Given the description of an element on the screen output the (x, y) to click on. 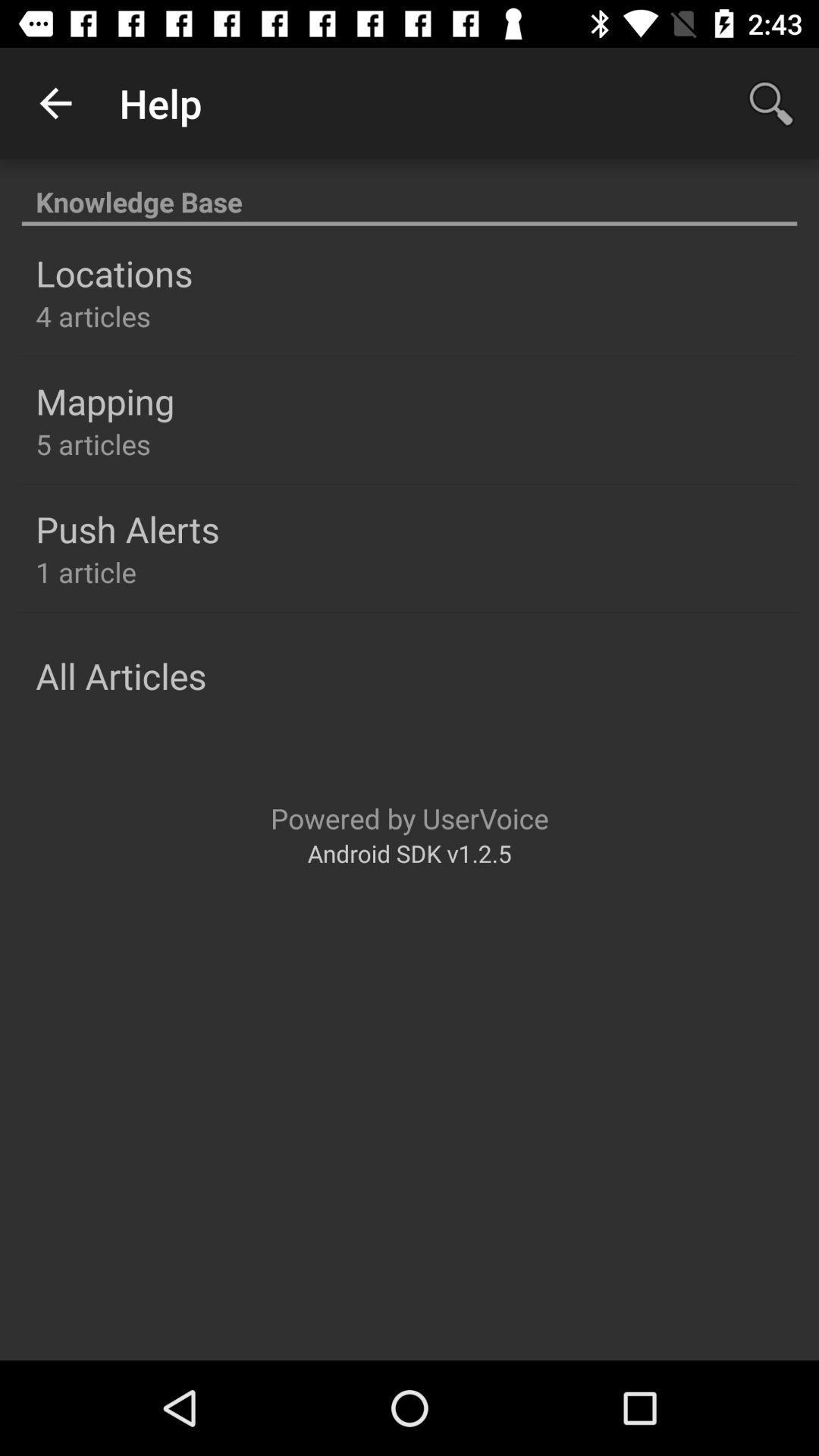
flip to the 1 article icon (85, 571)
